Given the description of an element on the screen output the (x, y) to click on. 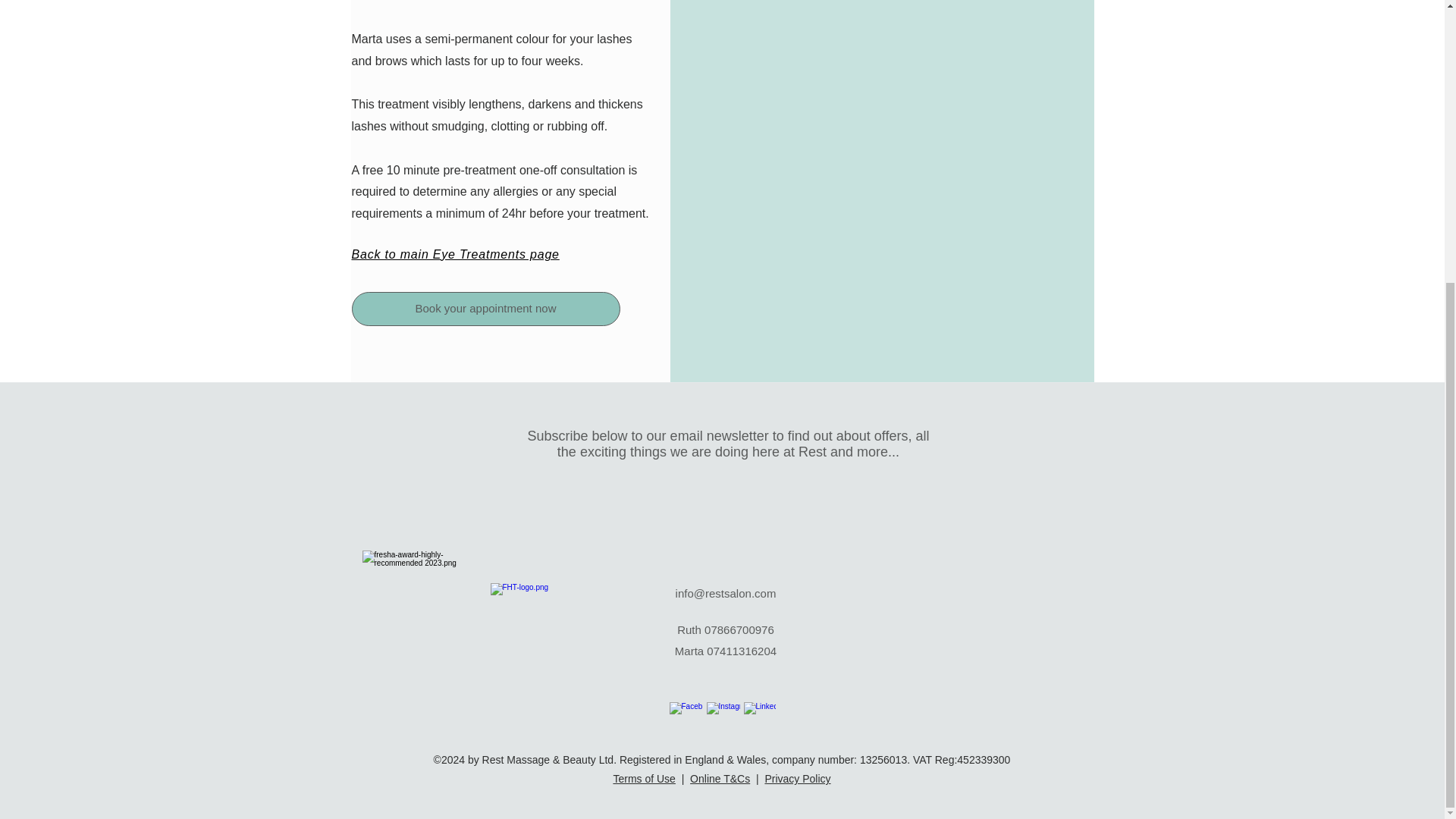
Terms of Use (643, 778)
Privacy Policy (796, 778)
Book your appointment now (486, 308)
Back to main Eye Treatments page (455, 254)
